Given the description of an element on the screen output the (x, y) to click on. 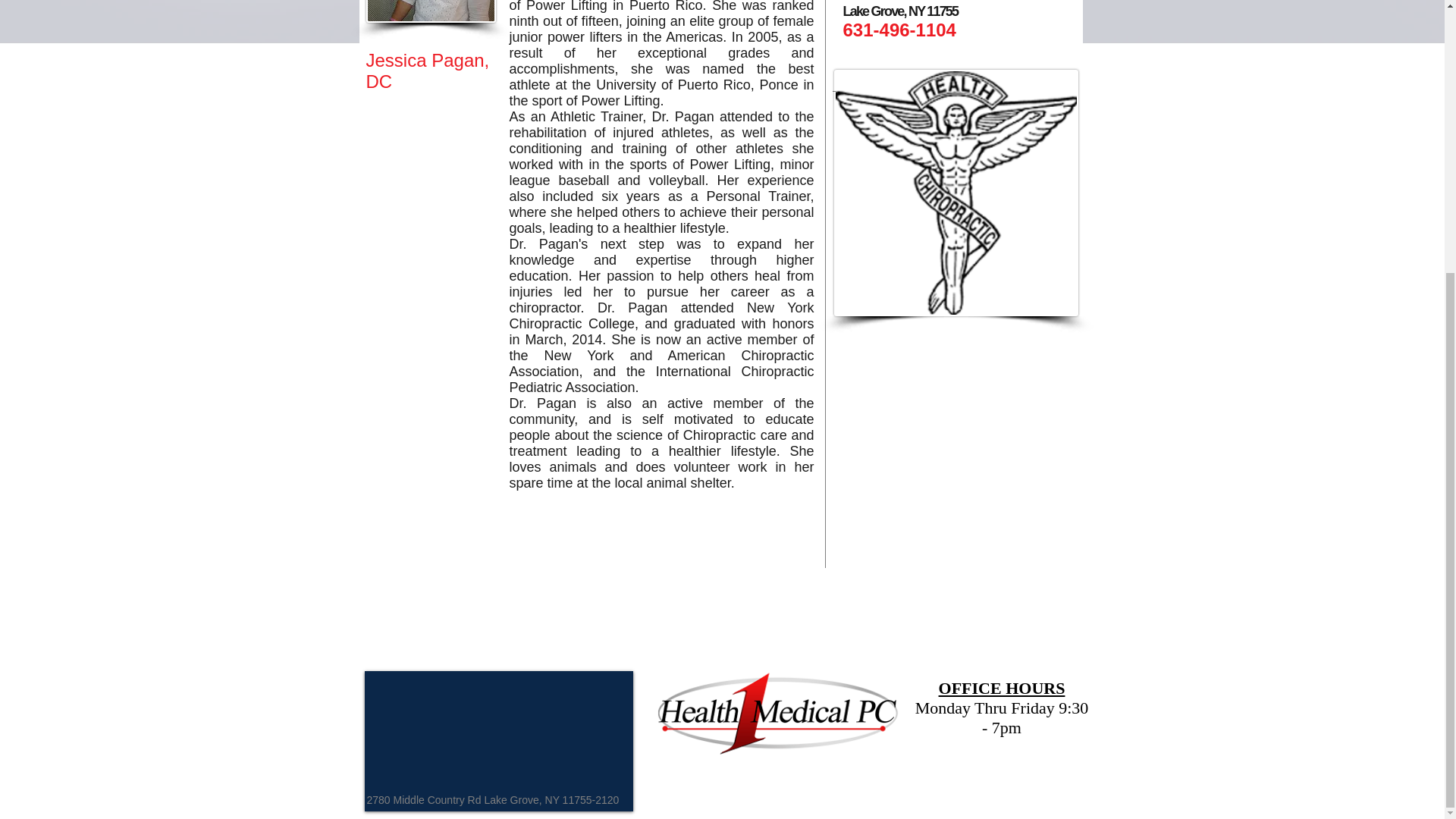
Google Maps (498, 741)
chiro10.png (956, 192)
